Given the description of an element on the screen output the (x, y) to click on. 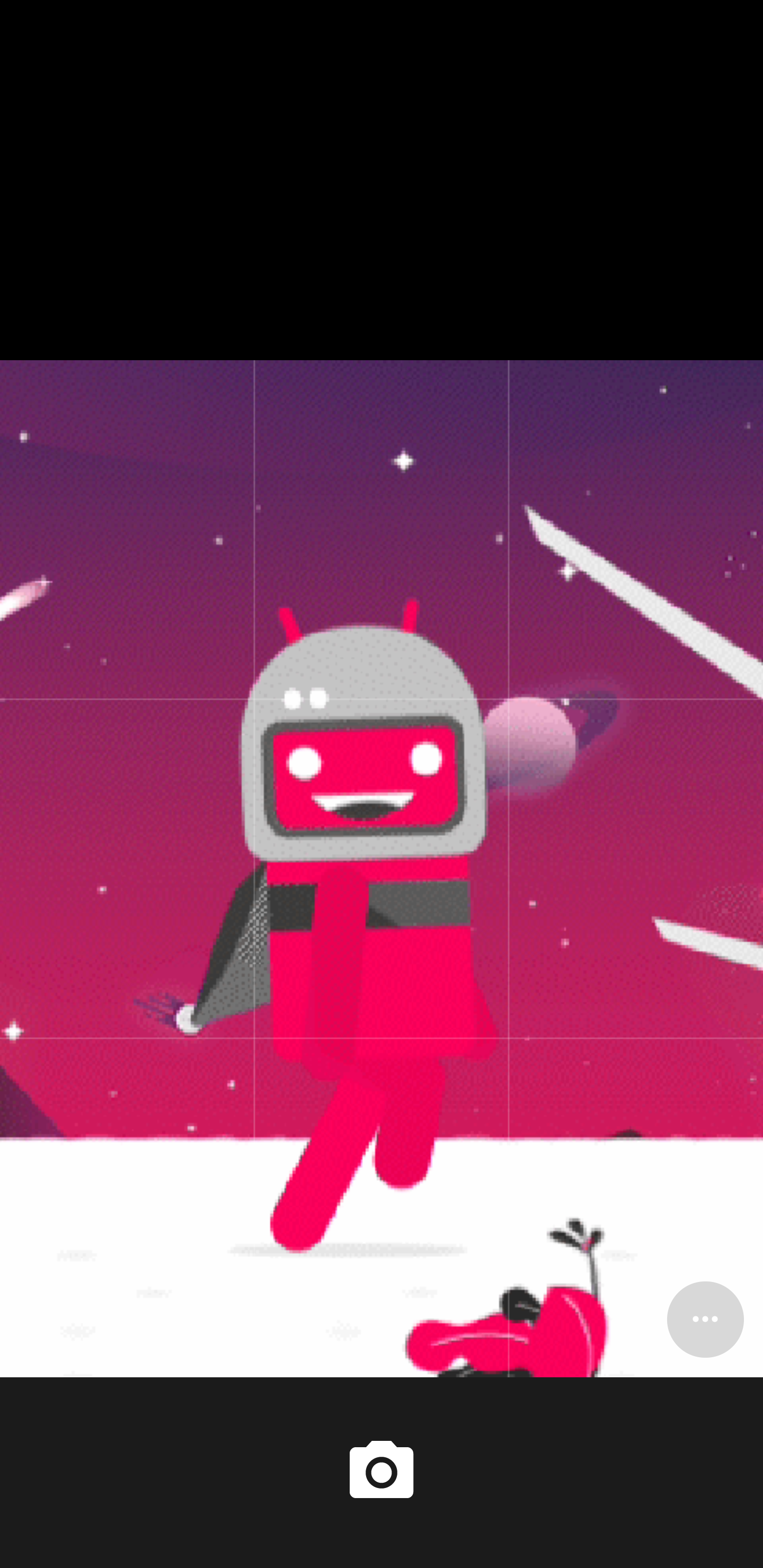
Options (704, 1319)
Shutter (381, 1472)
